Given the description of an element on the screen output the (x, y) to click on. 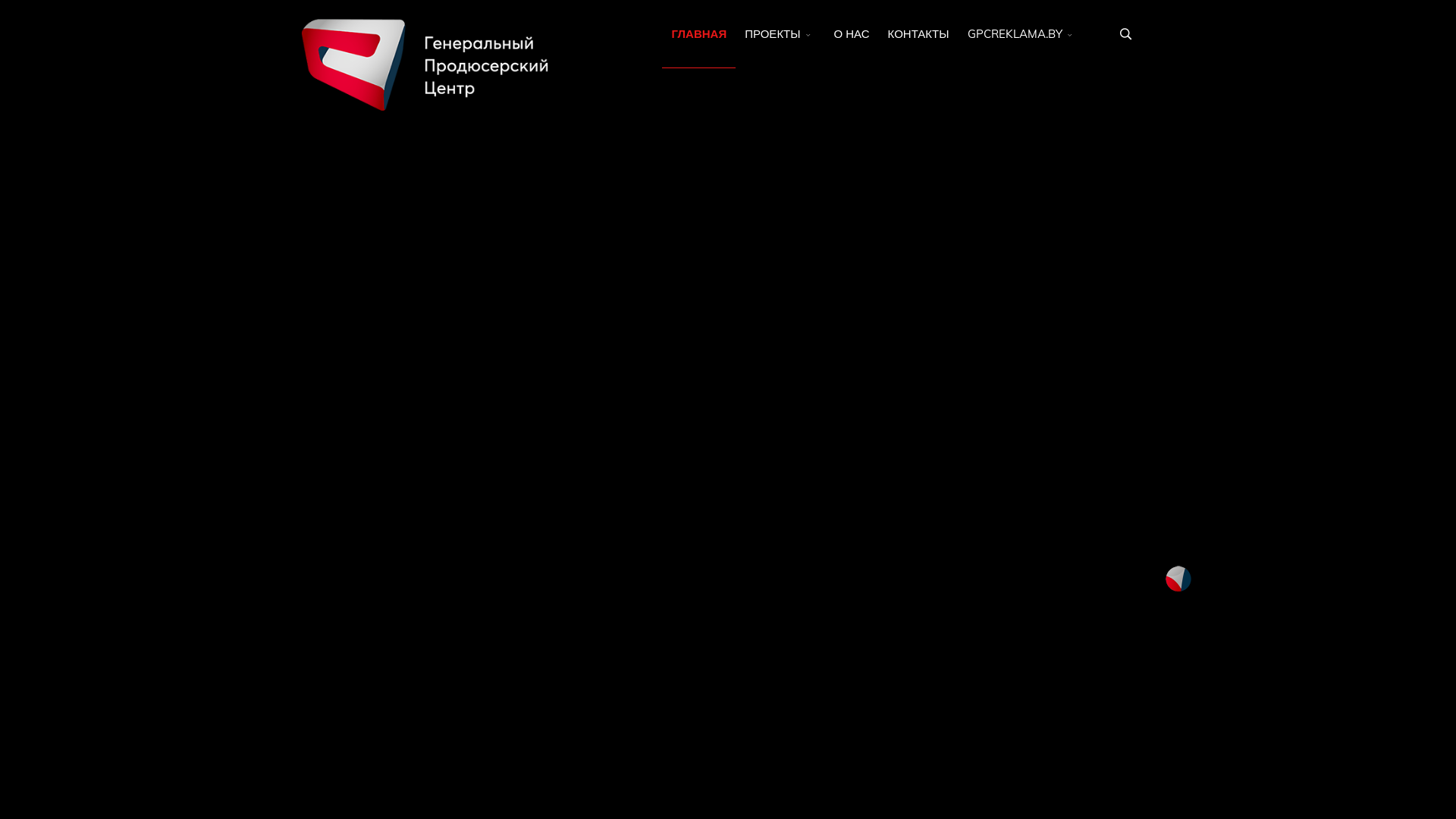
GPCREKLAMA.BY Element type: text (1022, 34)
